Given the description of an element on the screen output the (x, y) to click on. 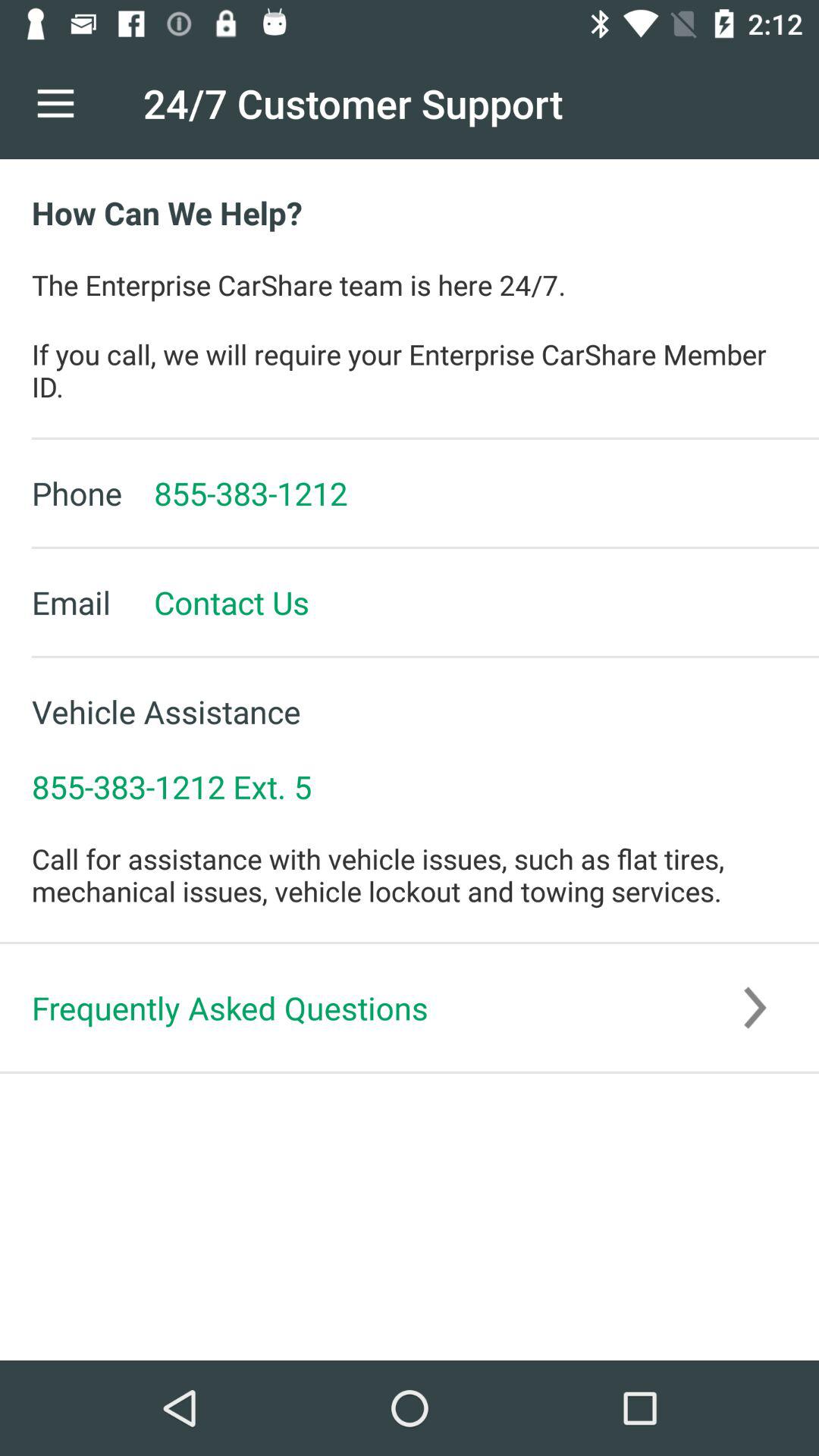
turn off item next to the 24 7 customer item (55, 103)
